Given the description of an element on the screen output the (x, y) to click on. 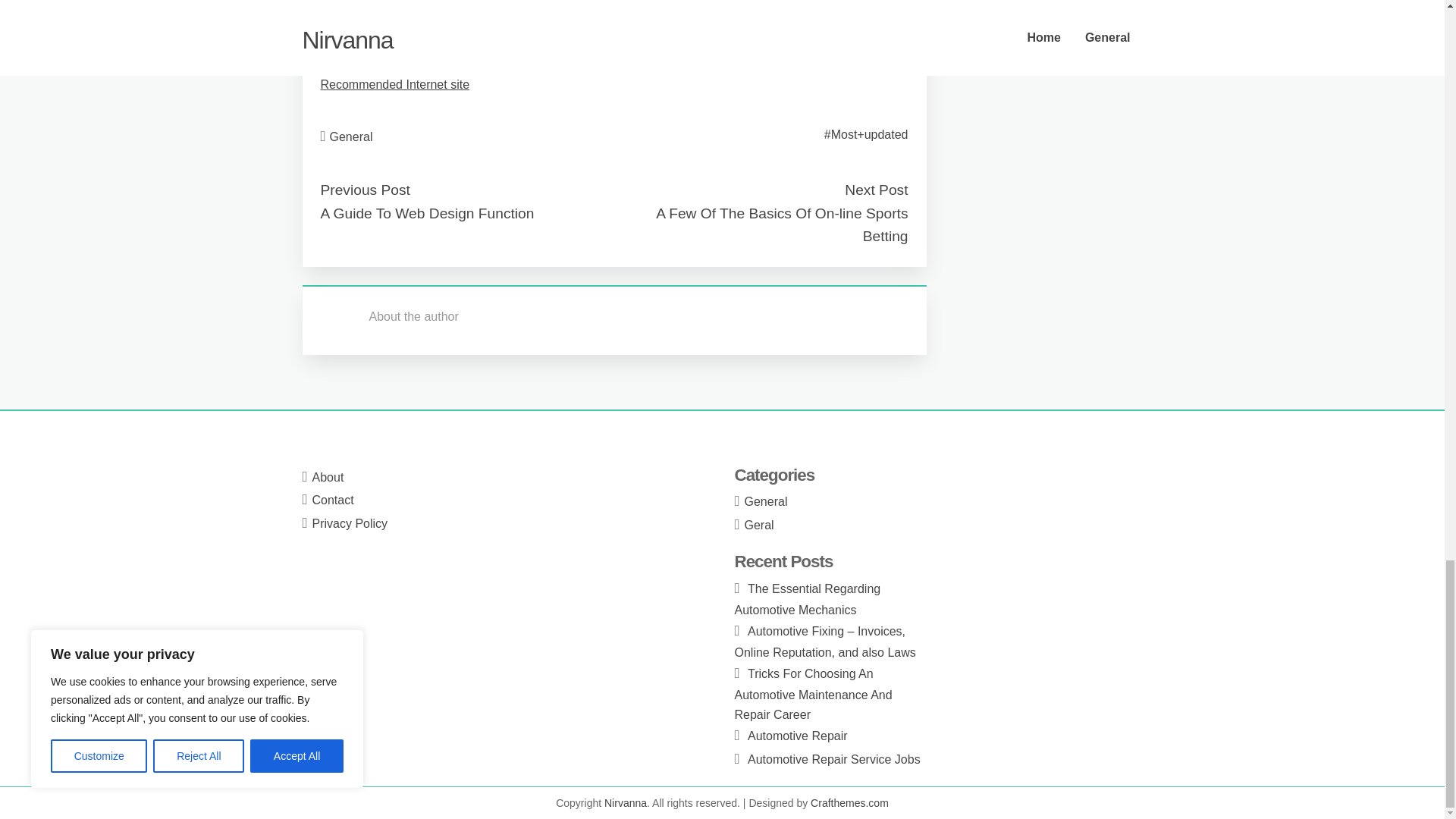
Similar webpage (364, 6)
Recommended Internet site (394, 83)
Next Post (875, 189)
A Few Of The Basics Of On-line Sports Betting (781, 224)
A Guide To Web Design Function (427, 213)
Previous Post (364, 189)
General (351, 136)
Read the Full Content (379, 45)
